Given the description of an element on the screen output the (x, y) to click on. 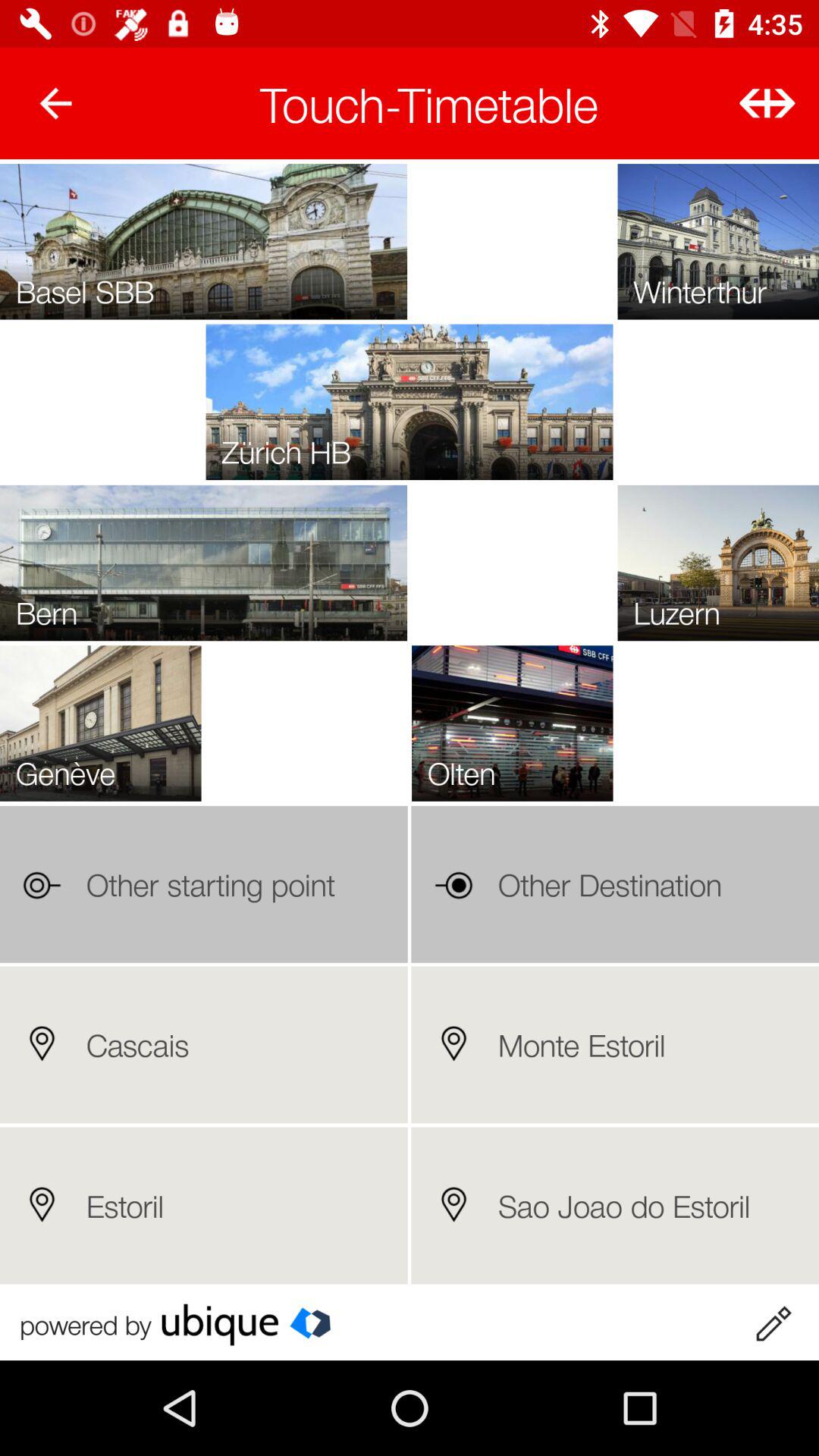
edit timetable (772, 1324)
